Given the description of an element on the screen output the (x, y) to click on. 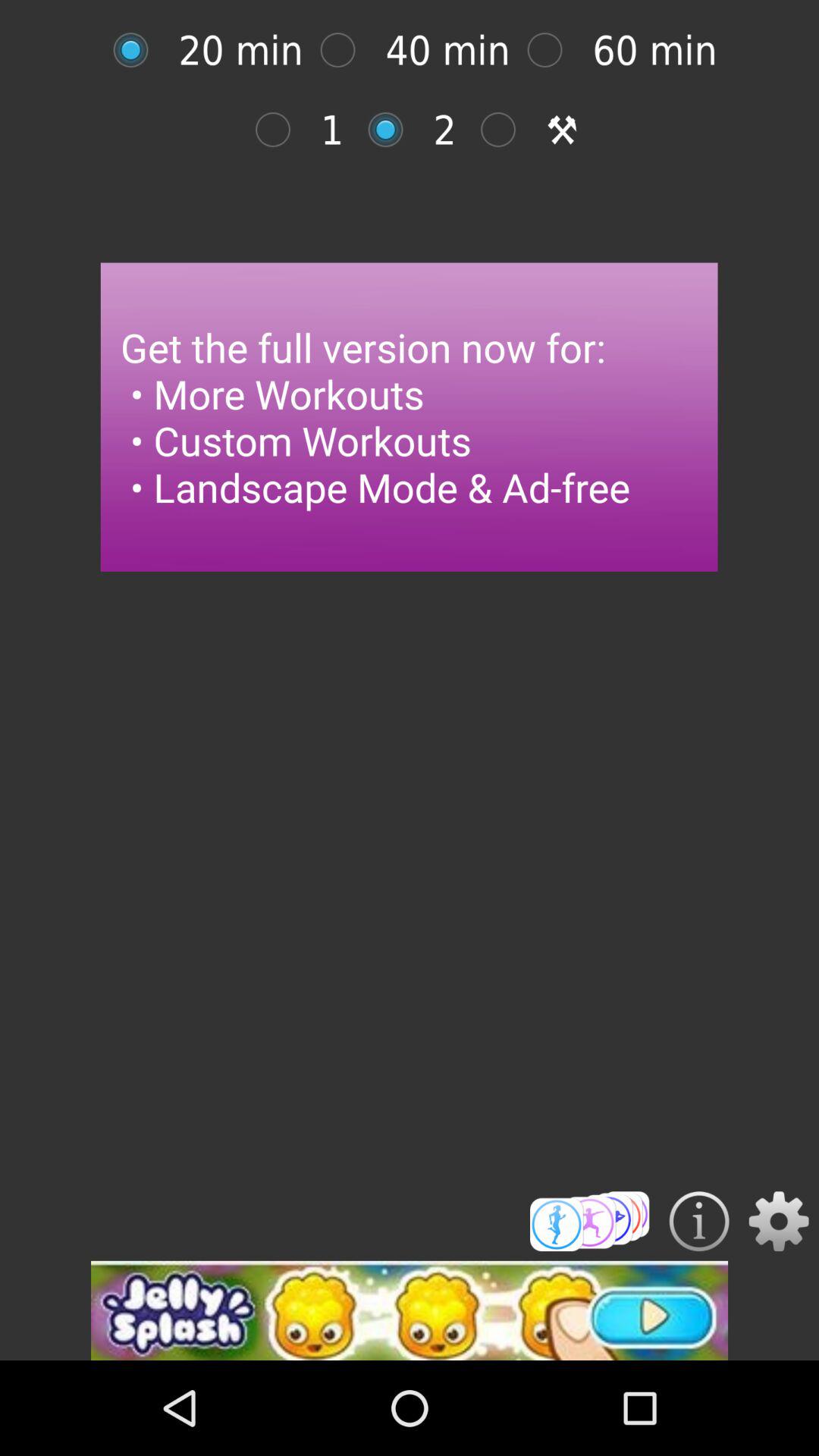
selection option (345, 49)
